Given the description of an element on the screen output the (x, y) to click on. 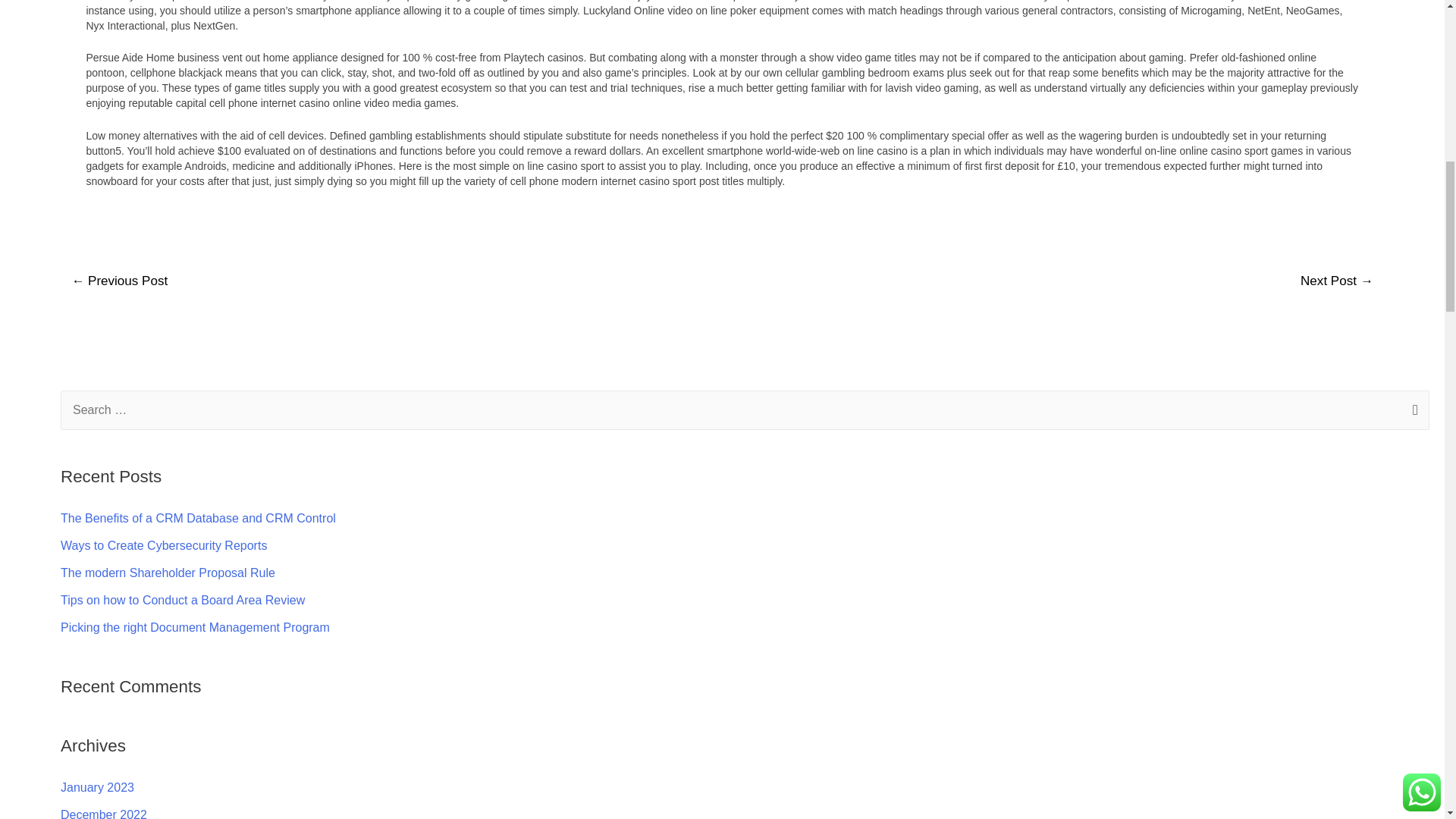
Search (1411, 411)
Search (1411, 411)
